Given the description of an element on the screen output the (x, y) to click on. 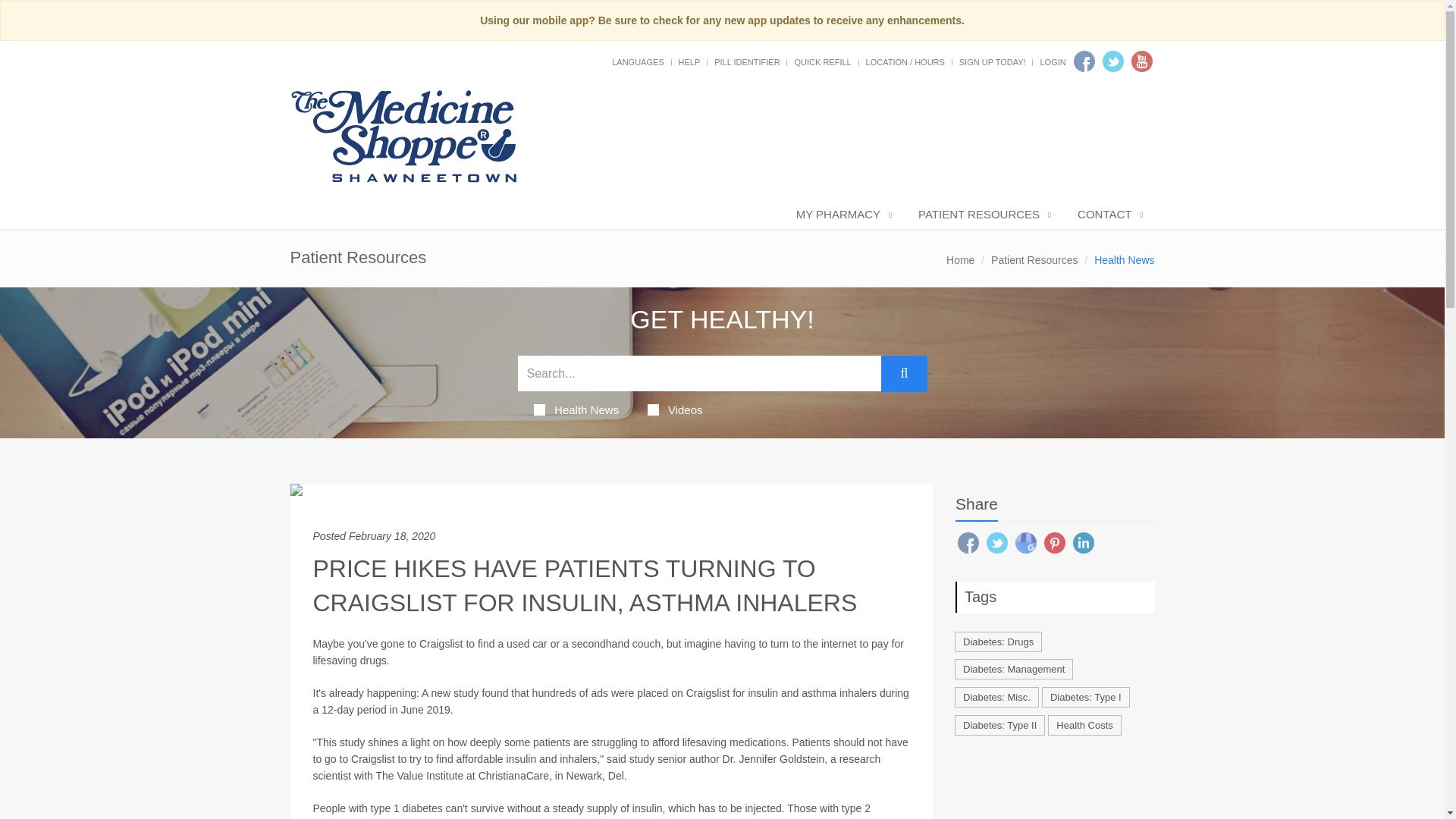
PILL IDENTIFIER (746, 61)
Patient Resources (1034, 259)
HELP (689, 61)
QUICK REFILL (821, 61)
SIGN UP TODAY! (992, 61)
MY PHARMACY (841, 214)
LOGIN (1052, 61)
Home (960, 259)
LANGUAGES (637, 61)
PATIENT RESOURCES (982, 214)
CONTACT (1108, 214)
